Given the description of an element on the screen output the (x, y) to click on. 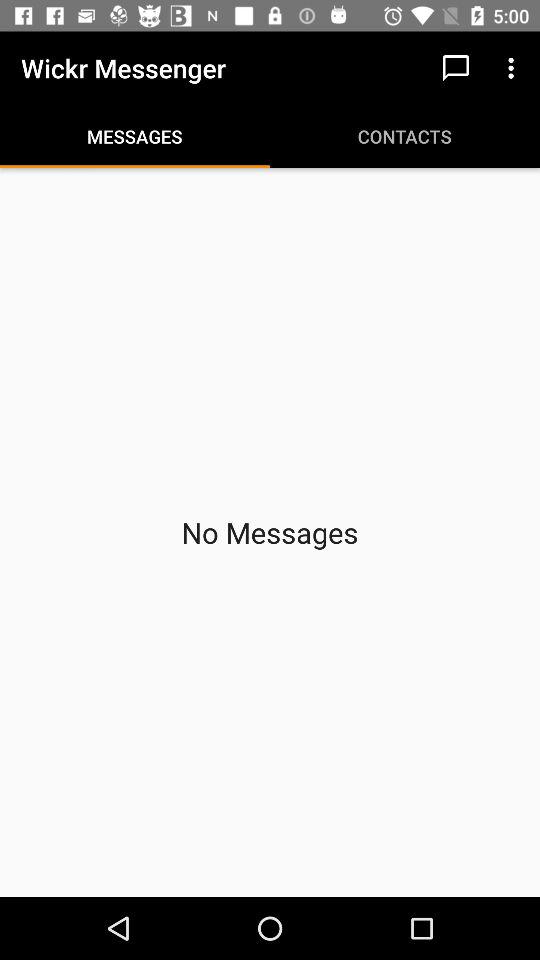
launch app next to wickr messenger icon (455, 67)
